Given the description of an element on the screen output the (x, y) to click on. 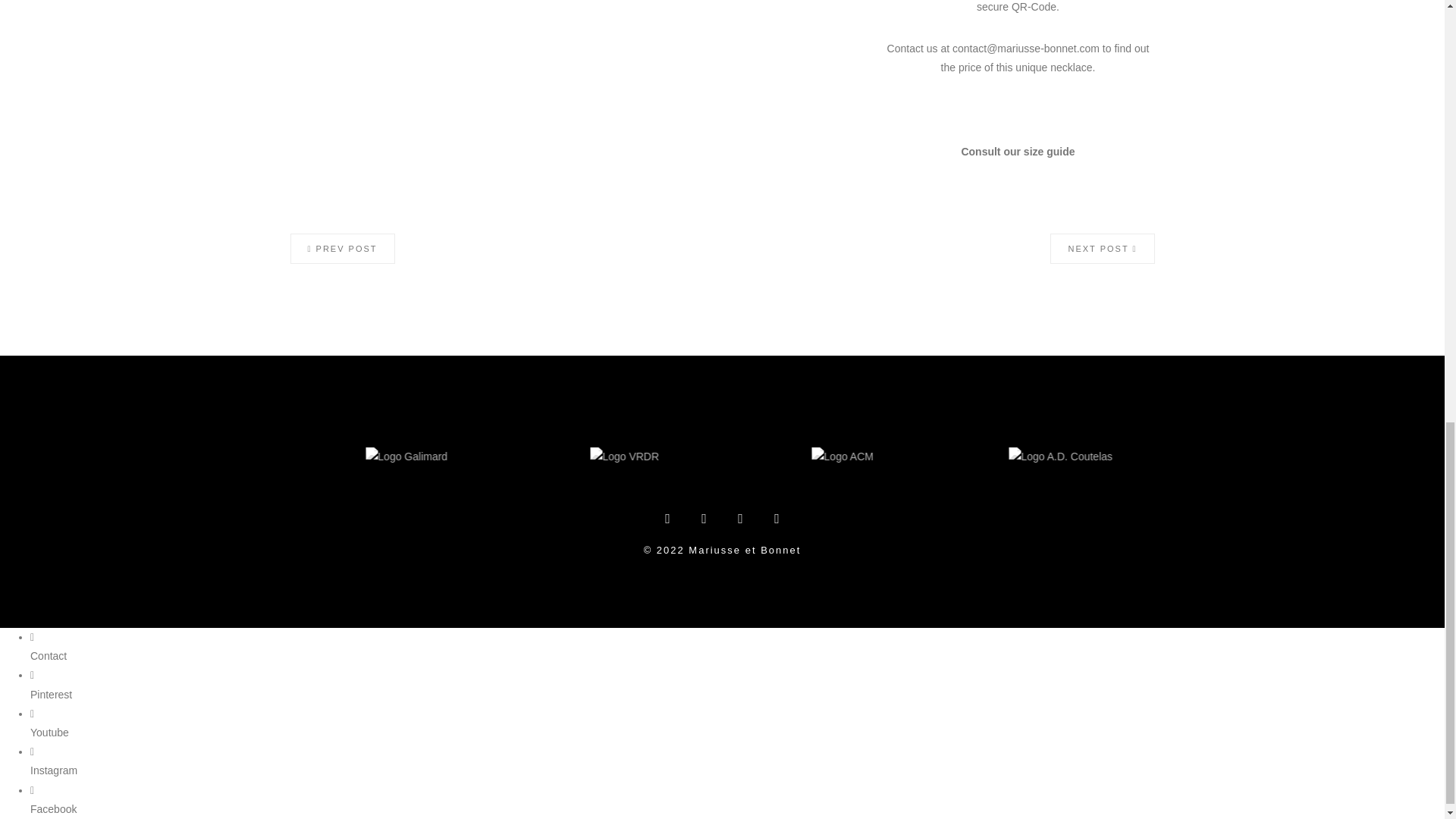
PREV POST (341, 248)
Consult our size guide (1017, 151)
NEXT POST (1101, 248)
